Given the description of an element on the screen output the (x, y) to click on. 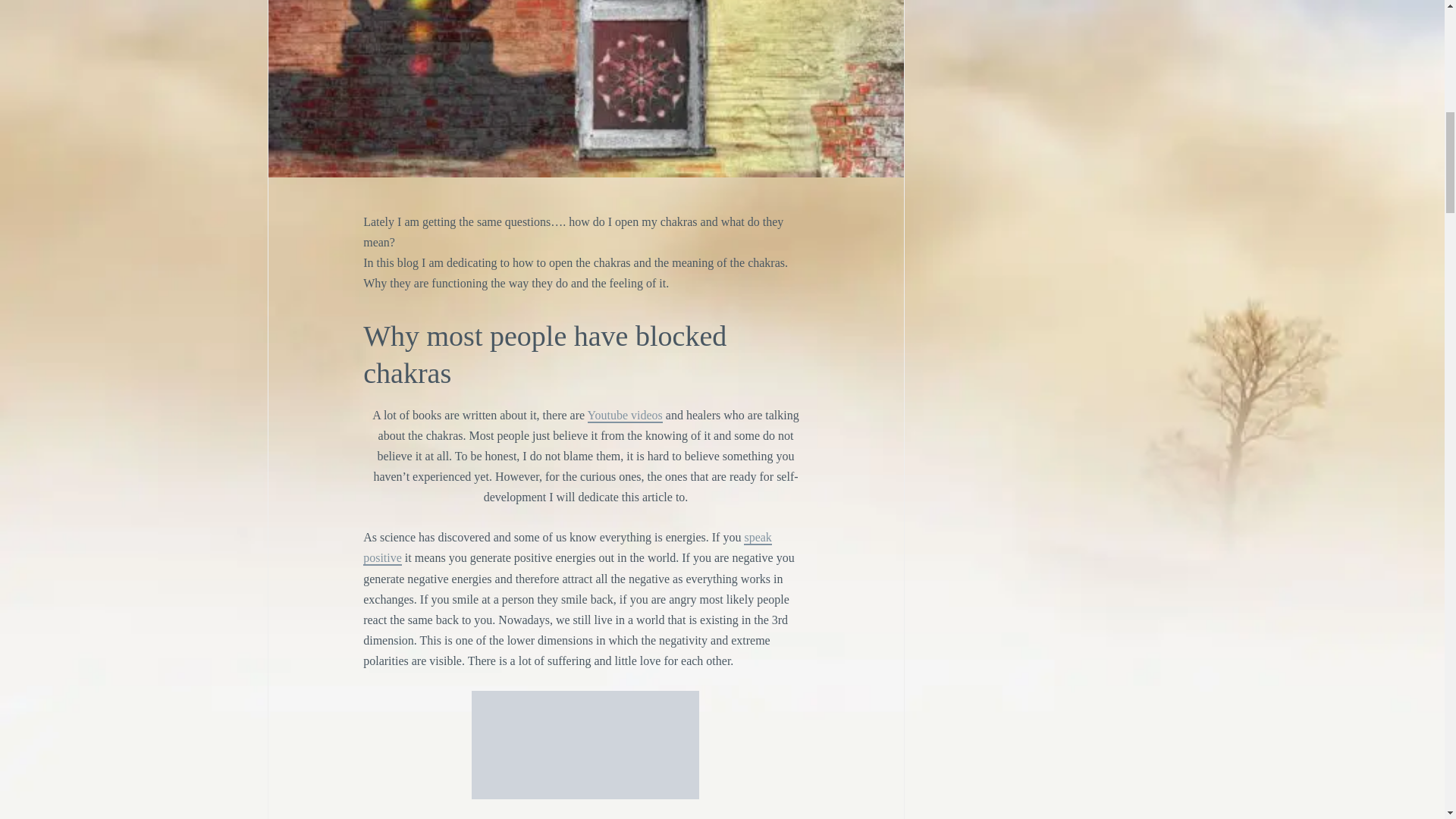
speak positive (566, 547)
Youtube videos (625, 415)
